Given the description of an element on the screen output the (x, y) to click on. 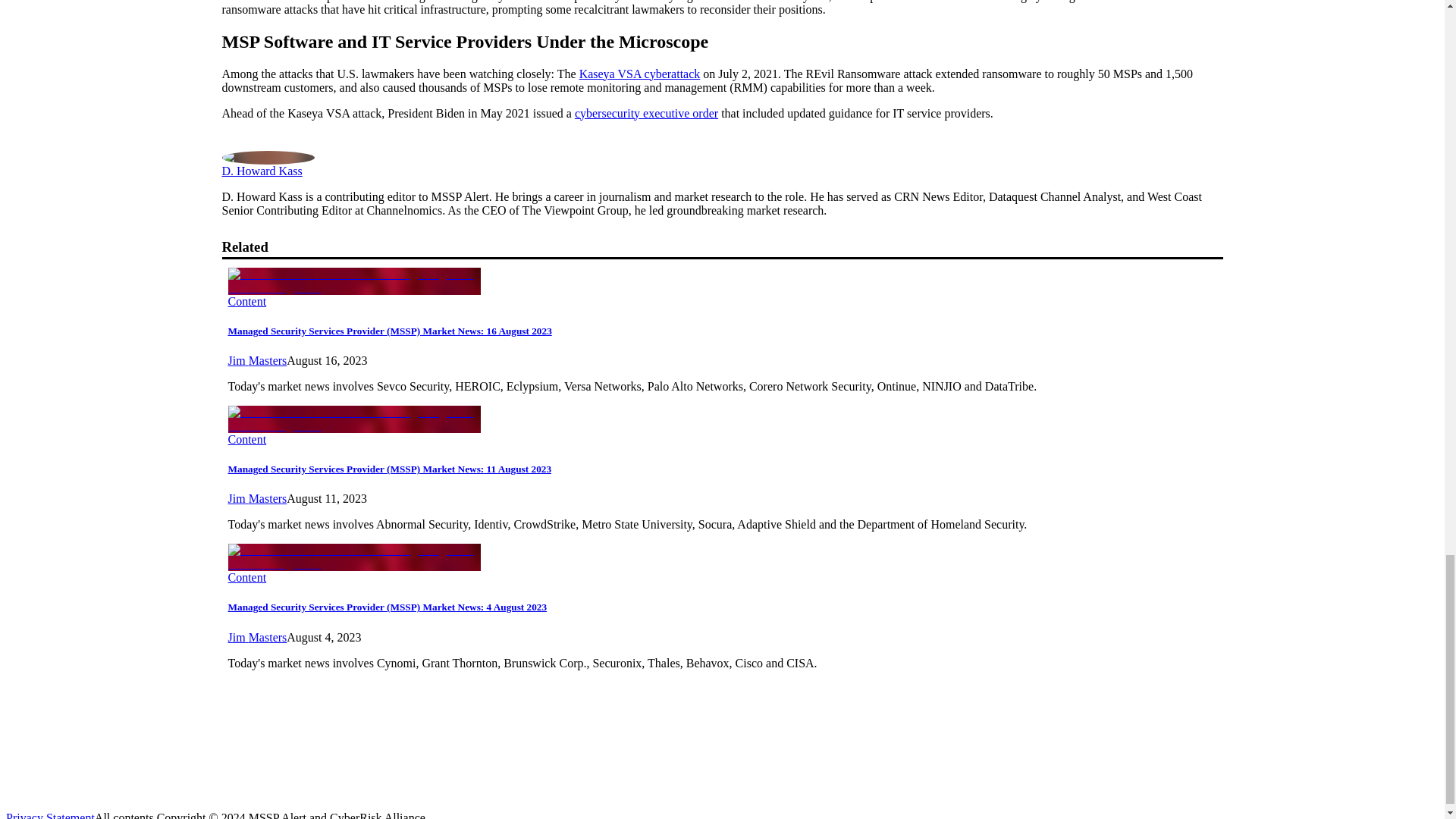
cybersecurity executive order (646, 112)
Content (246, 576)
Jim Masters (256, 498)
Content (246, 439)
D. Howard Kass (261, 169)
Content (246, 300)
Jim Masters (256, 636)
Kaseya VSA cyberattack (639, 72)
Jim Masters (256, 359)
